Given the description of an element on the screen output the (x, y) to click on. 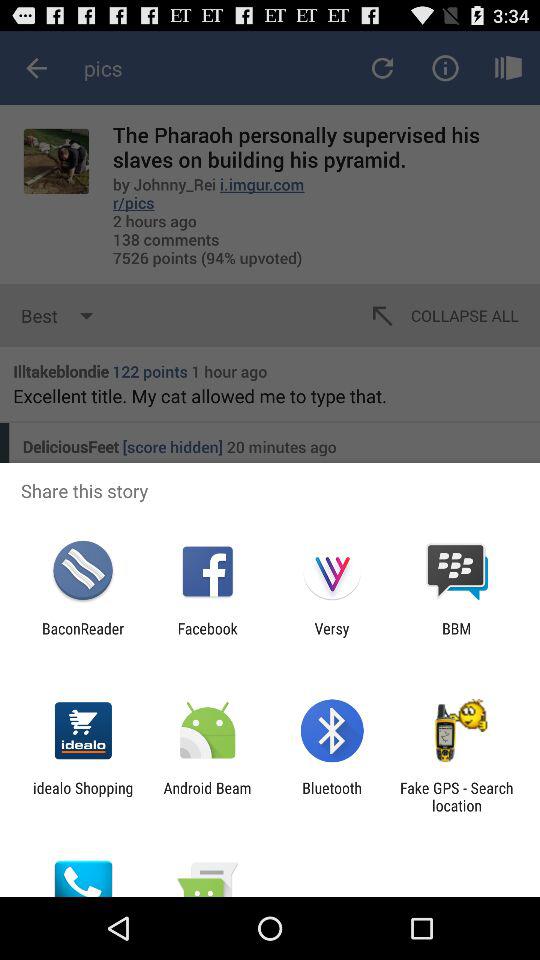
jump until the android beam app (207, 796)
